Given the description of an element on the screen output the (x, y) to click on. 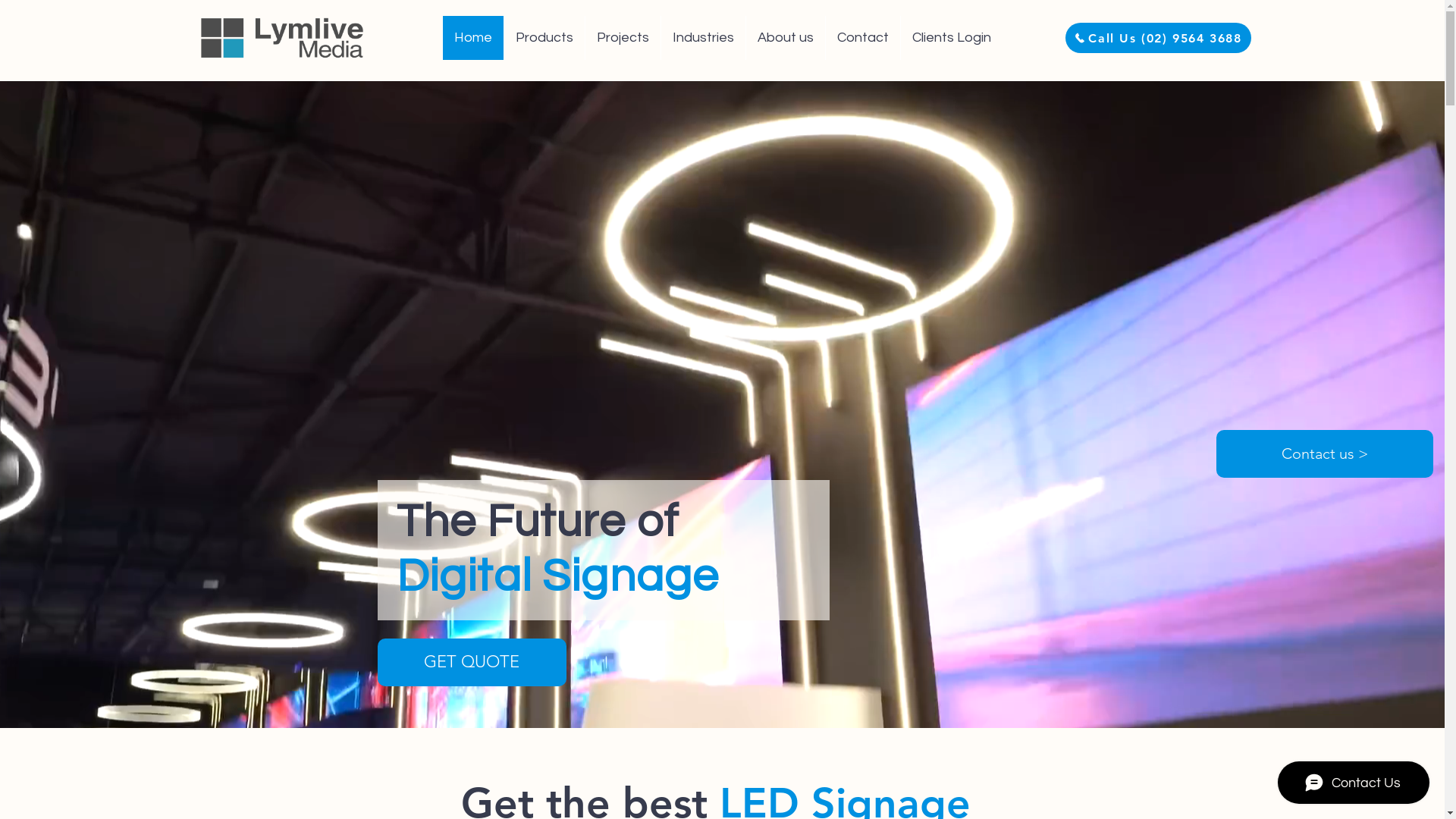
Clients Login Element type: text (951, 37)
Contact us > Element type: text (1324, 452)
Projects Element type: text (622, 37)
Call Us (02) 9564 3688 Element type: text (1157, 37)
Contact Element type: text (862, 37)
Home Element type: text (472, 37)
GET QUOTE Element type: text (471, 662)
Industries Element type: text (702, 37)
Products Element type: text (543, 37)
About us Element type: text (785, 37)
